Given the description of an element on the screen output the (x, y) to click on. 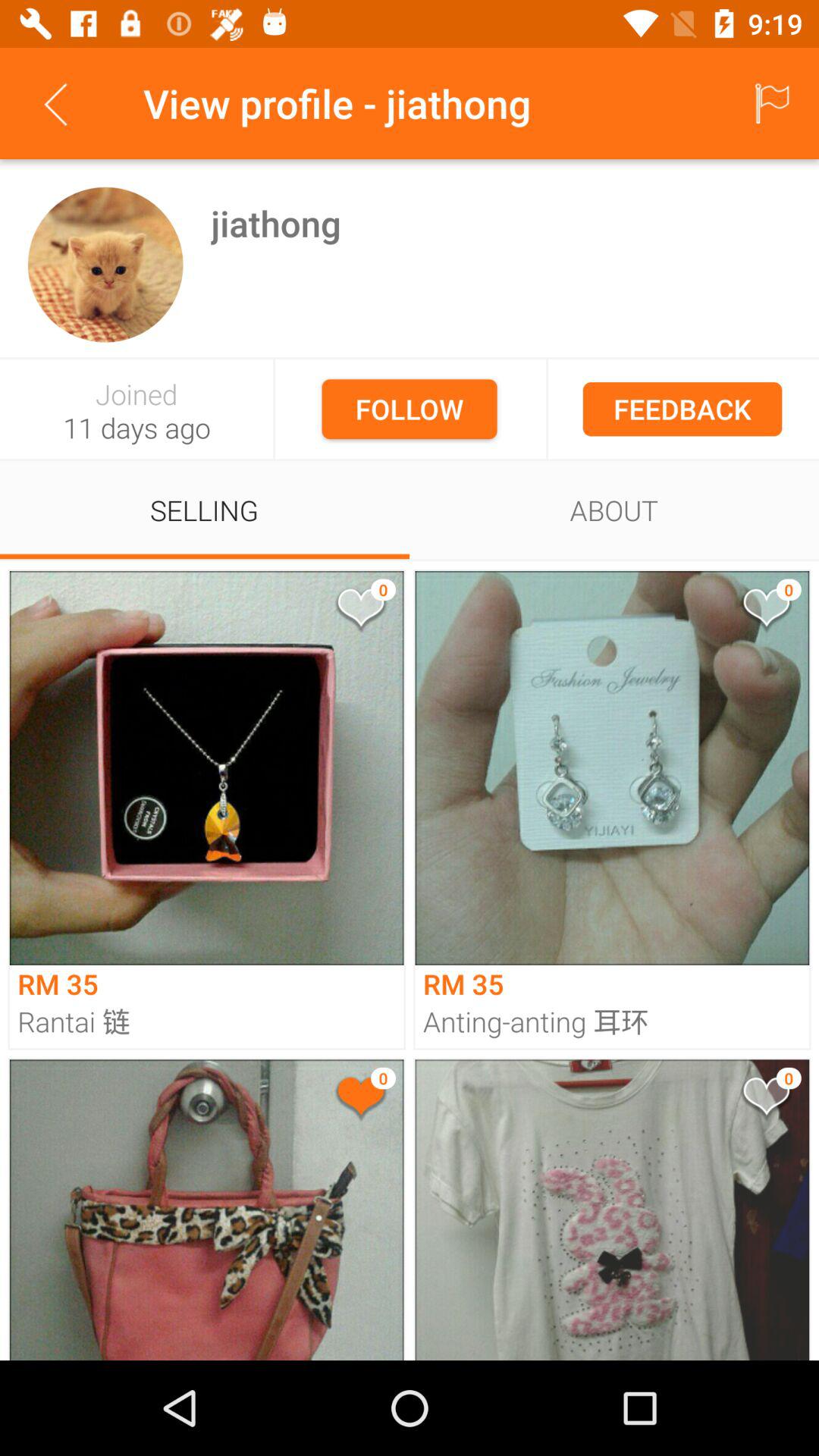
scroll to feedback icon (682, 409)
